Given the description of an element on the screen output the (x, y) to click on. 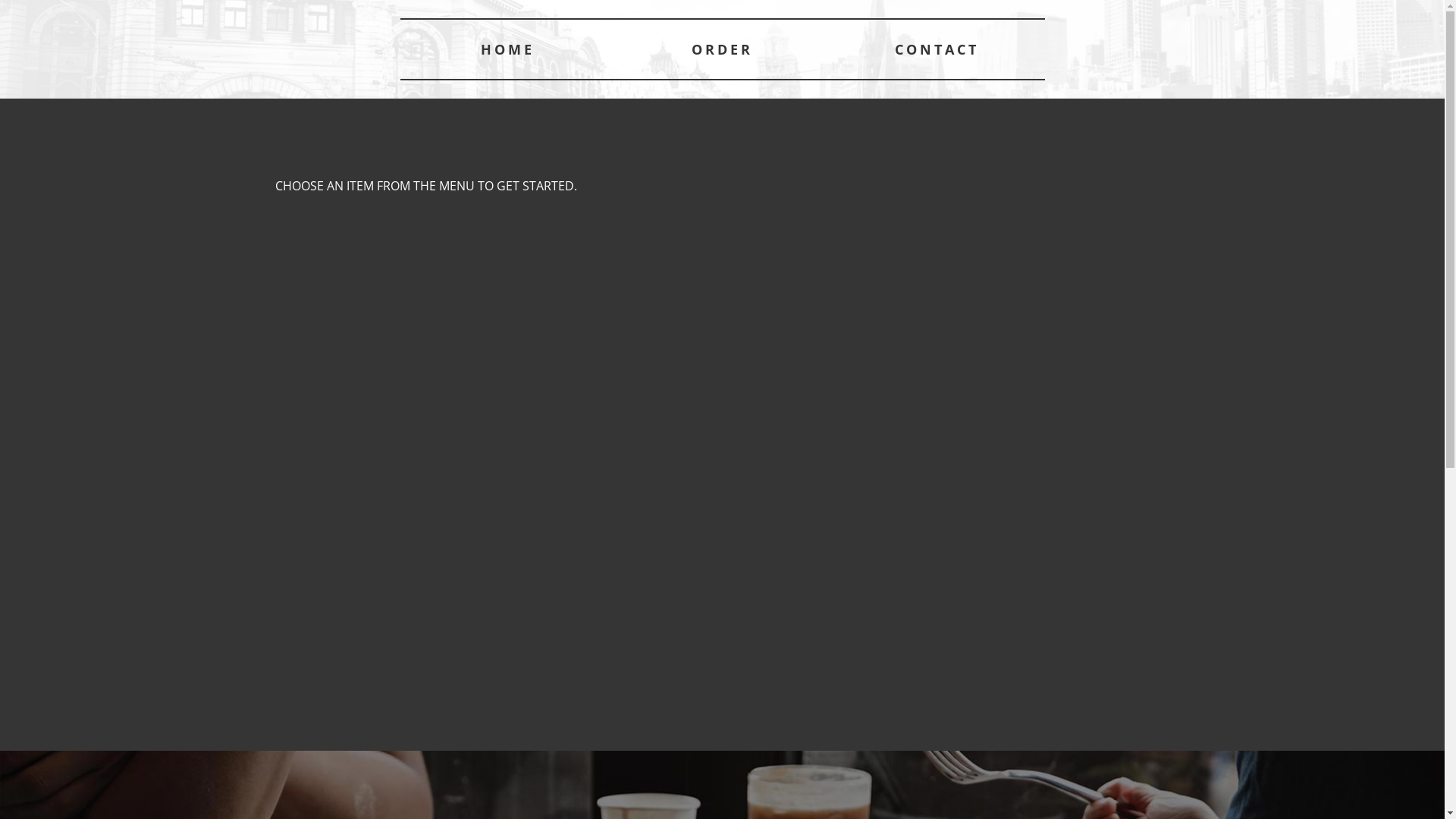
CONTACT Element type: text (936, 49)
ORDER Element type: text (722, 49)
HOME Element type: text (507, 49)
